Given the description of an element on the screen output the (x, y) to click on. 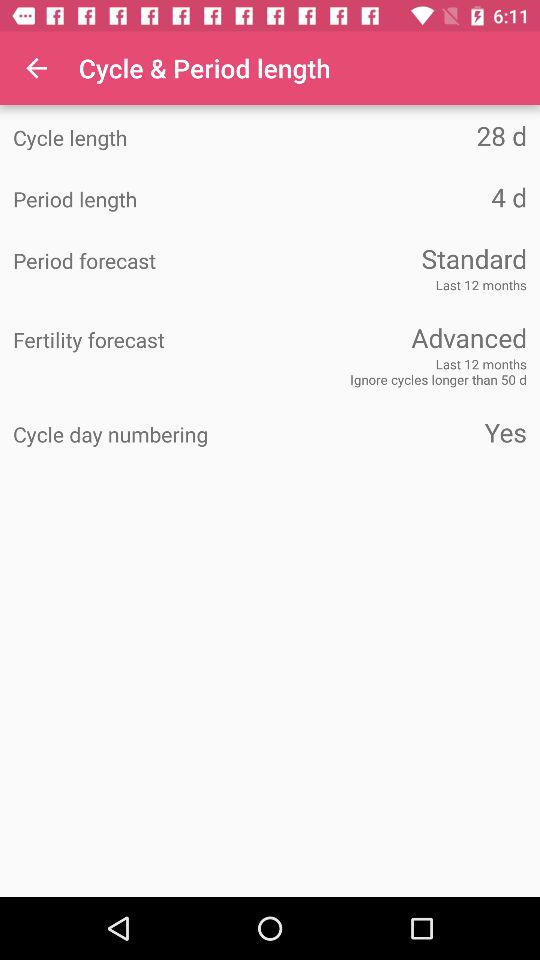
turn off the icon to the right of the cycle length item (398, 135)
